Given the description of an element on the screen output the (x, y) to click on. 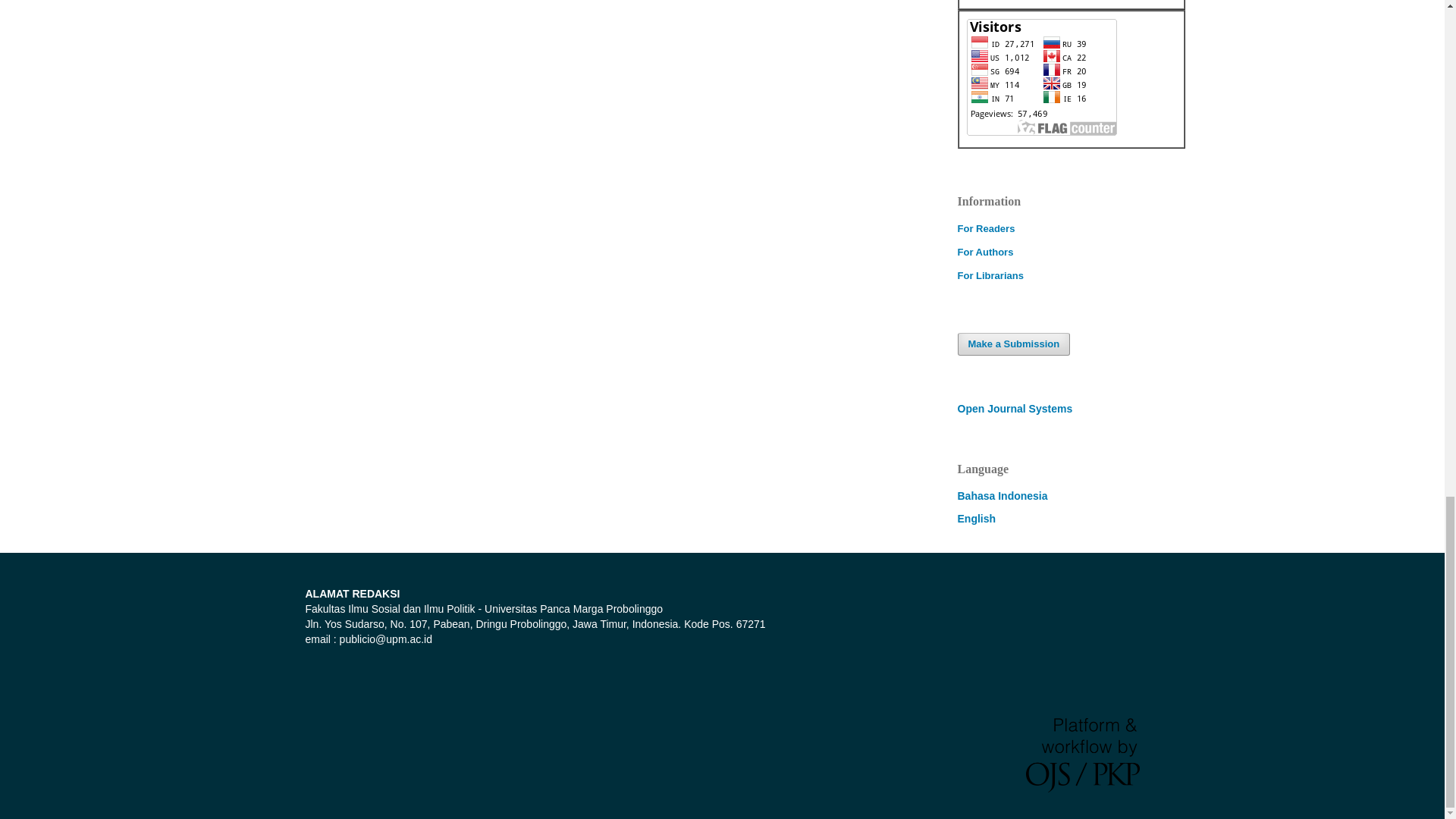
For Readers (985, 228)
